Given the description of an element on the screen output the (x, y) to click on. 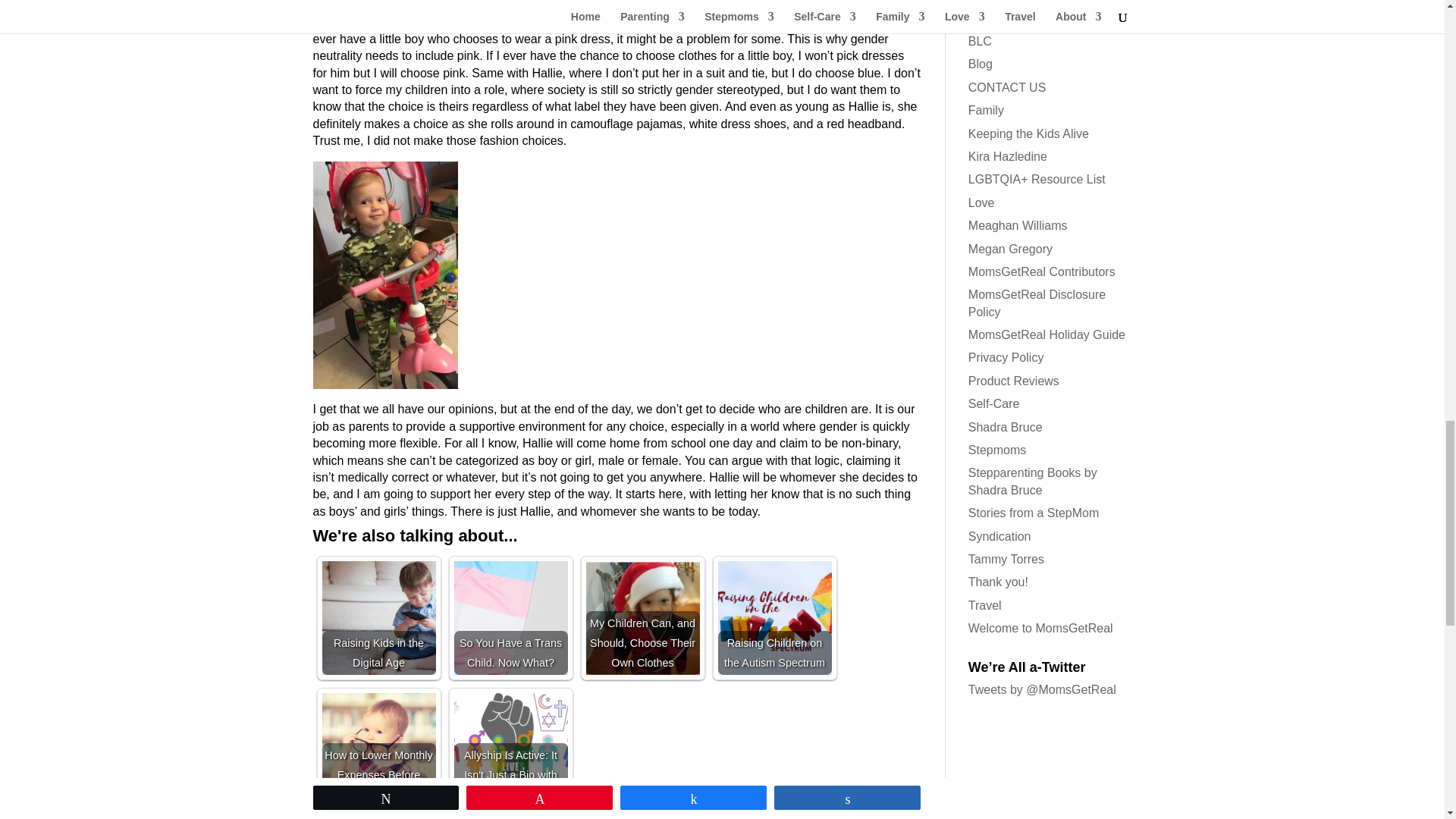
Raising Kids in the Digital Age (378, 617)
Raising Children on the Autism Spectrum (774, 617)
So You Have a Trans Child. Now What? (509, 617)
My Children Can, and Should, Choose Their Own Clothes (641, 617)
How to Lower Monthly Expenses Before Starting a Family (378, 749)
